Given the description of an element on the screen output the (x, y) to click on. 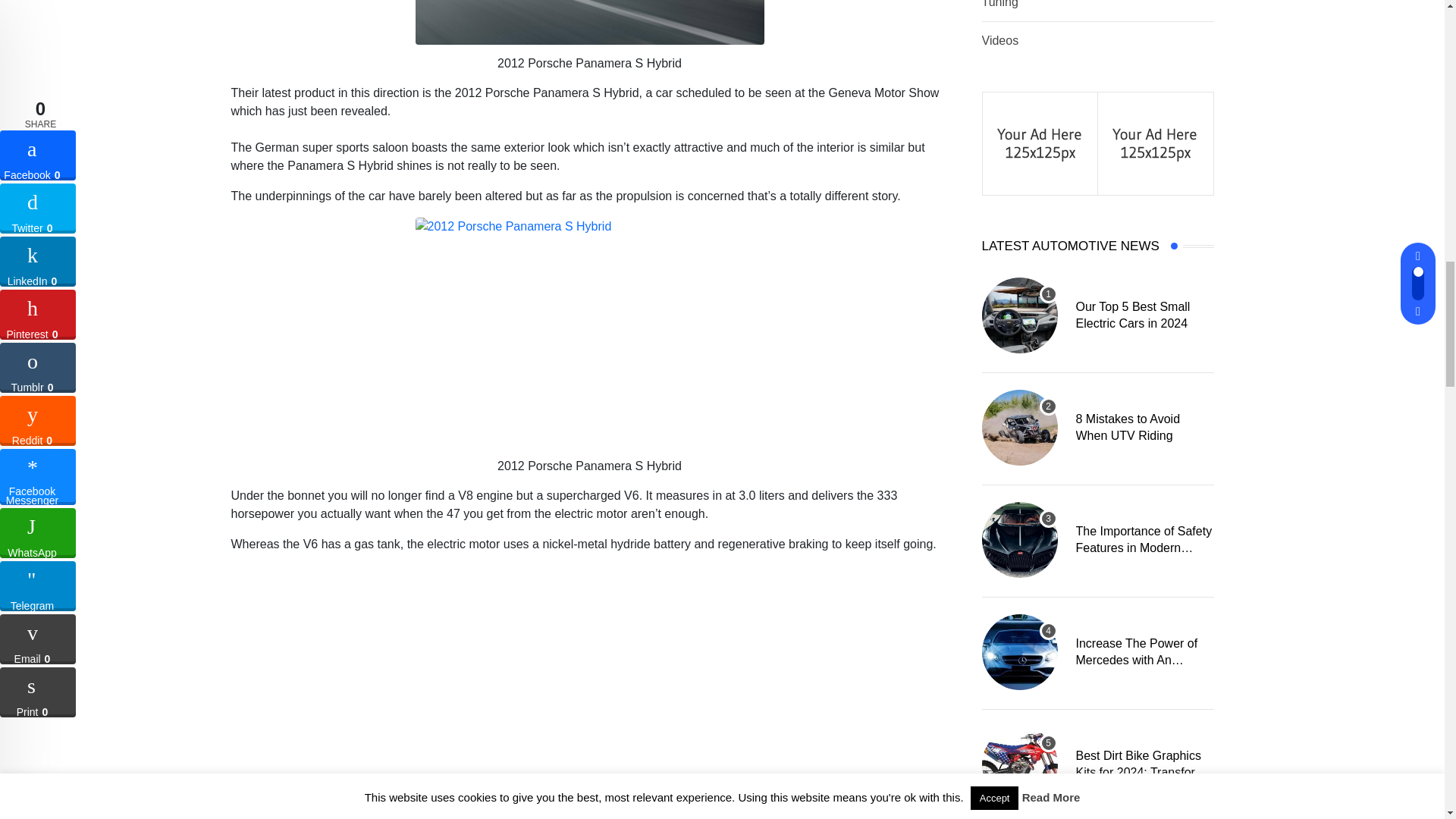
Our Top 5 Best Small Electric Cars in 2024 (1019, 314)
Advertise (1155, 141)
Advertise (1039, 141)
8 Mistakes to Avoid When UTV Riding (1019, 427)
Advertisement (596, 798)
